Given the description of an element on the screen output the (x, y) to click on. 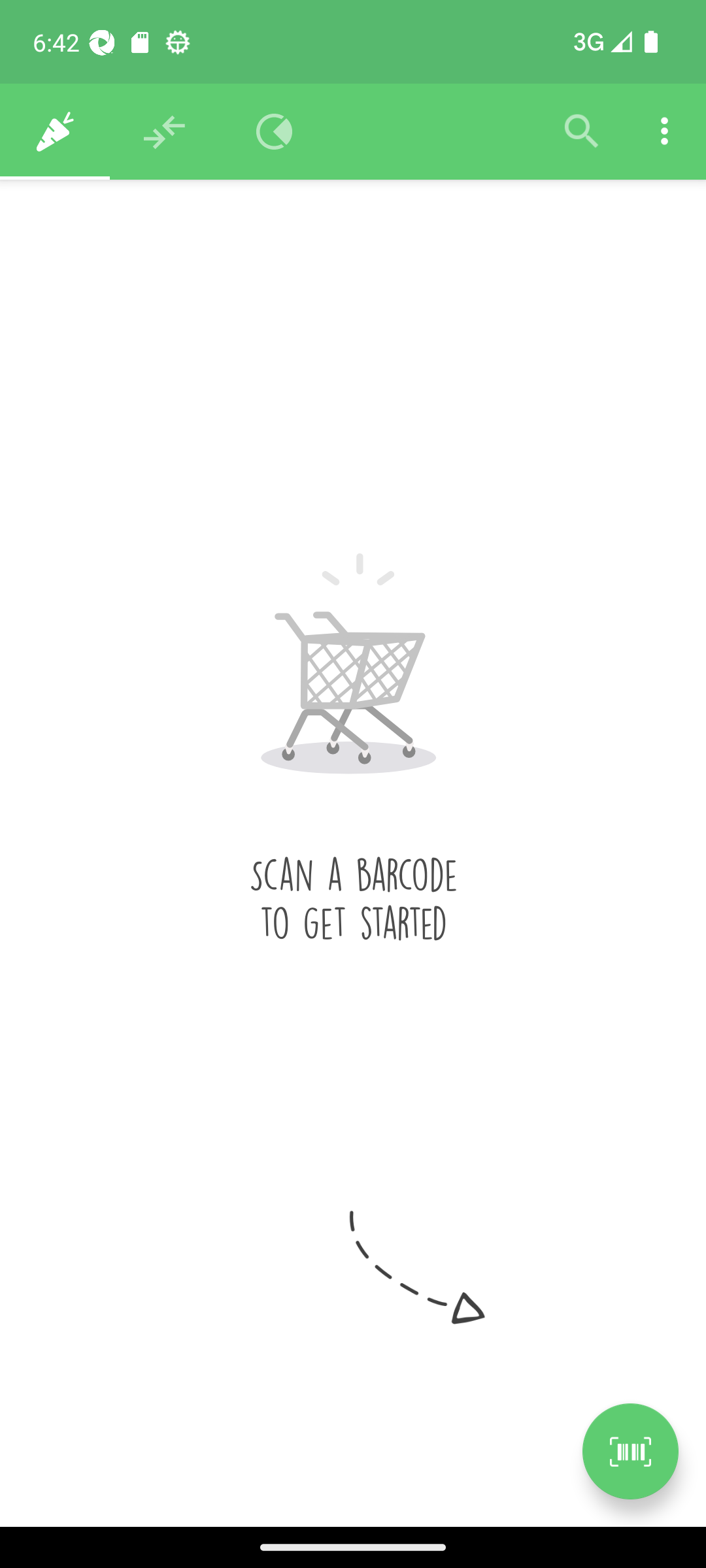
Recommendations (164, 131)
Overview (274, 131)
Filter (581, 131)
Settings (664, 131)
Scan a product (630, 1451)
